Given the description of an element on the screen output the (x, y) to click on. 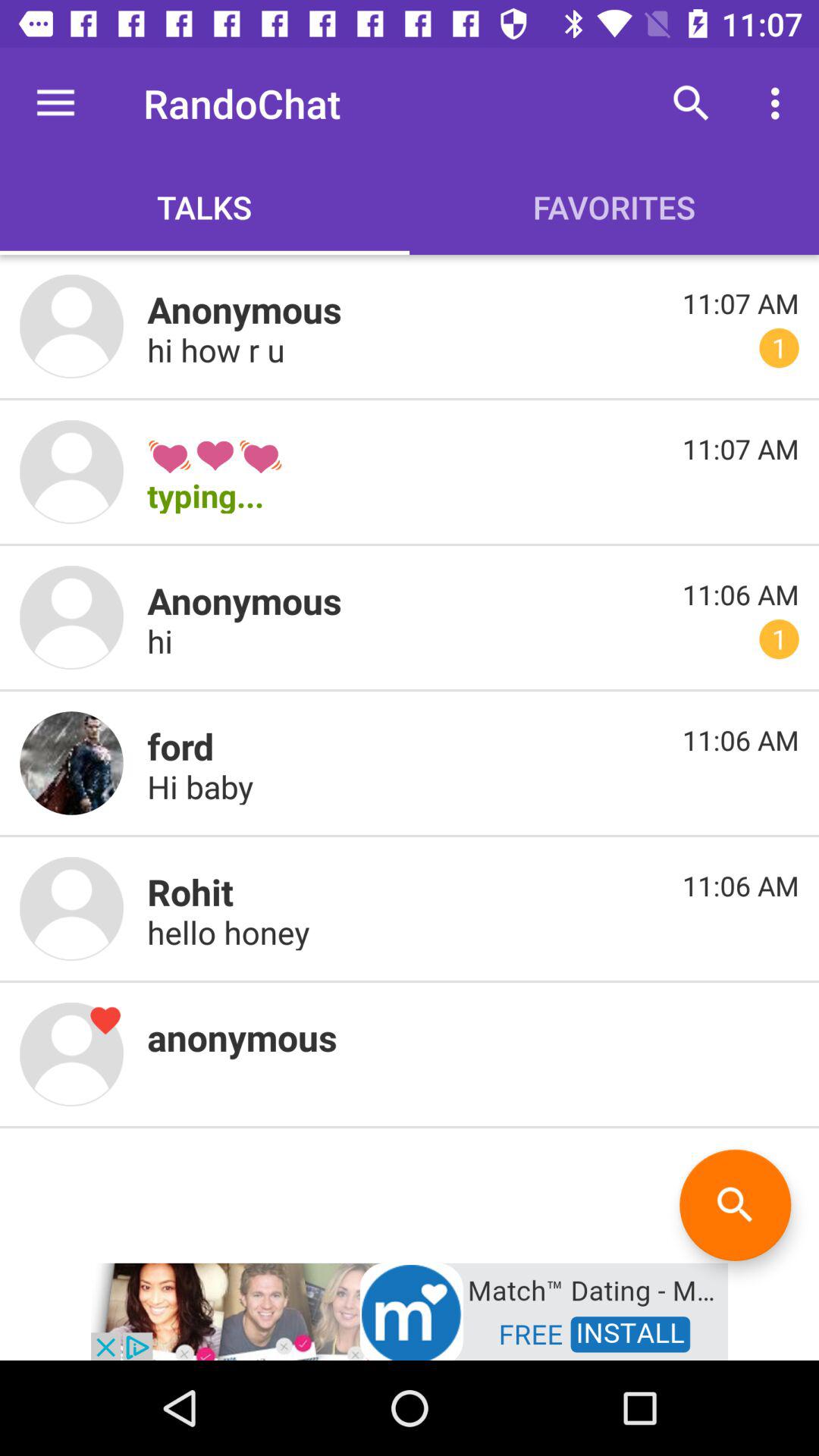
profile picture (71, 763)
